Given the description of an element on the screen output the (x, y) to click on. 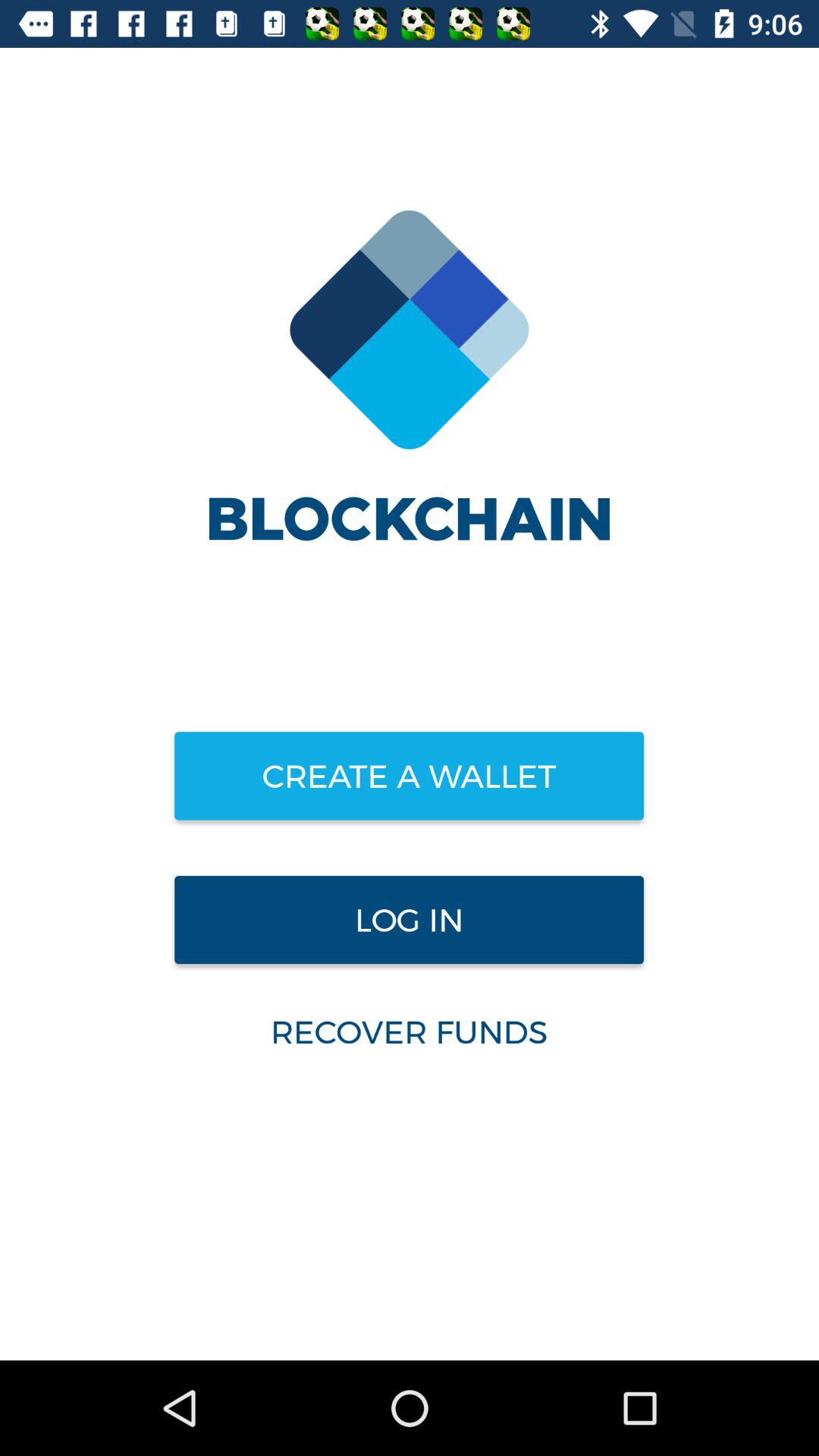
select the icon above the recover funds item (408, 919)
